Given the description of an element on the screen output the (x, y) to click on. 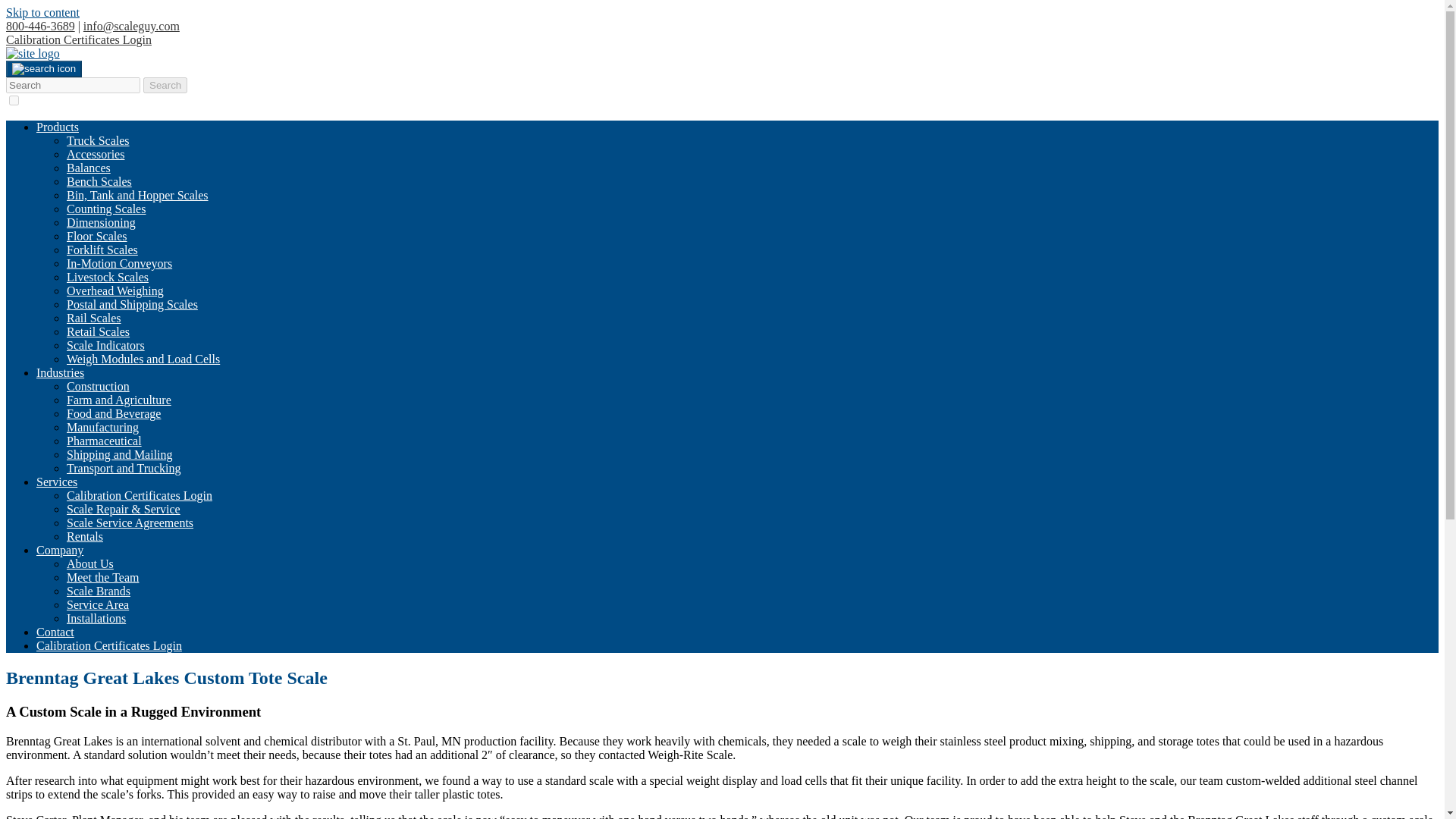
Overhead Weighing (114, 290)
Shipping and Mailing (119, 454)
Services (56, 481)
Weigh Modules and Load Cells (142, 358)
Skip to content (42, 11)
Meet the Team (102, 576)
Calibration Certificates Login (139, 495)
Floor Scales (97, 236)
Transport and Trucking (123, 468)
Scale Indicators (105, 345)
